Given the description of an element on the screen output the (x, y) to click on. 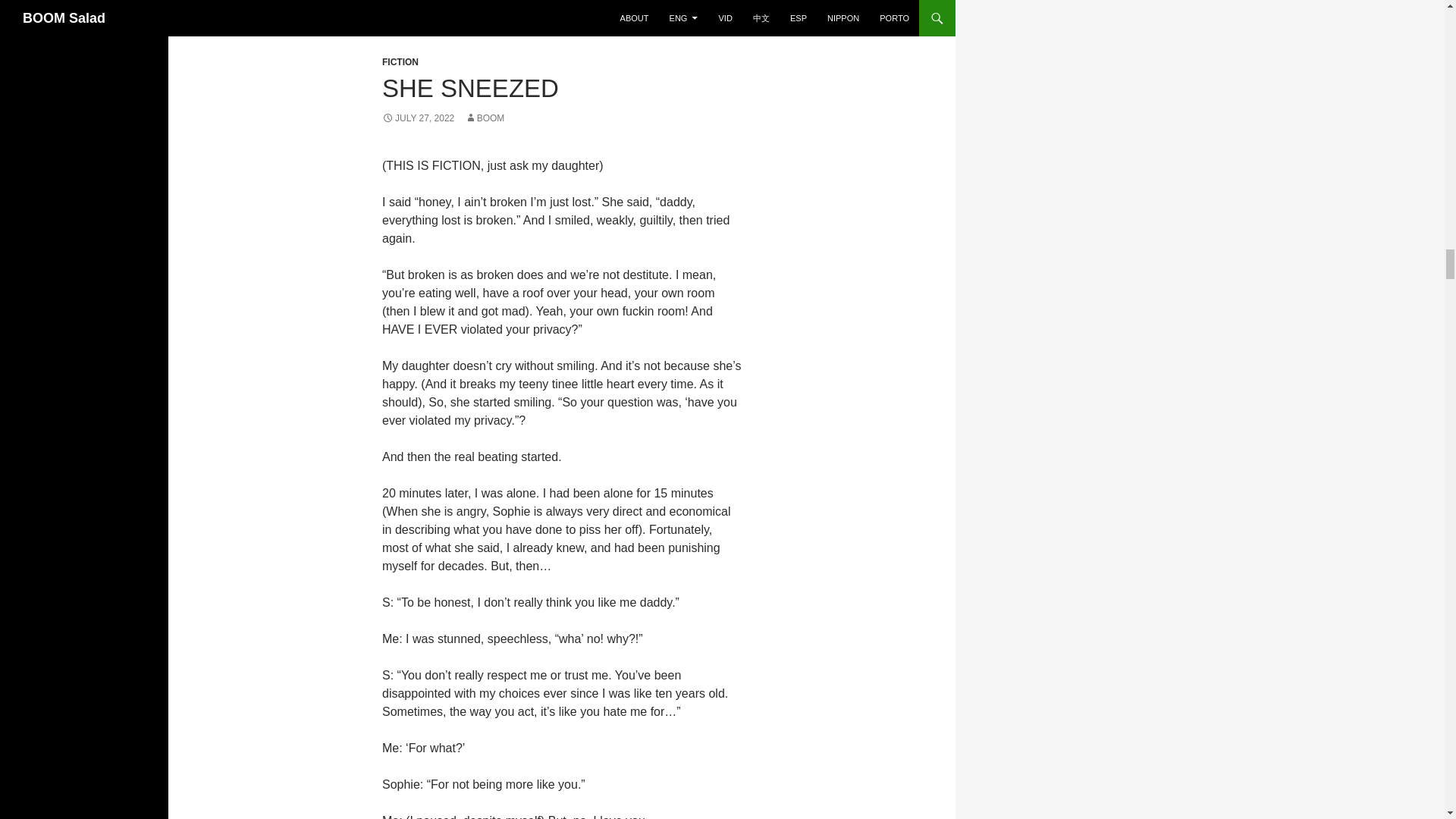
JULY 27, 2022 (417, 118)
SHE SNEEZED (470, 88)
FICTION (400, 61)
BOOM (484, 118)
